Given the description of an element on the screen output the (x, y) to click on. 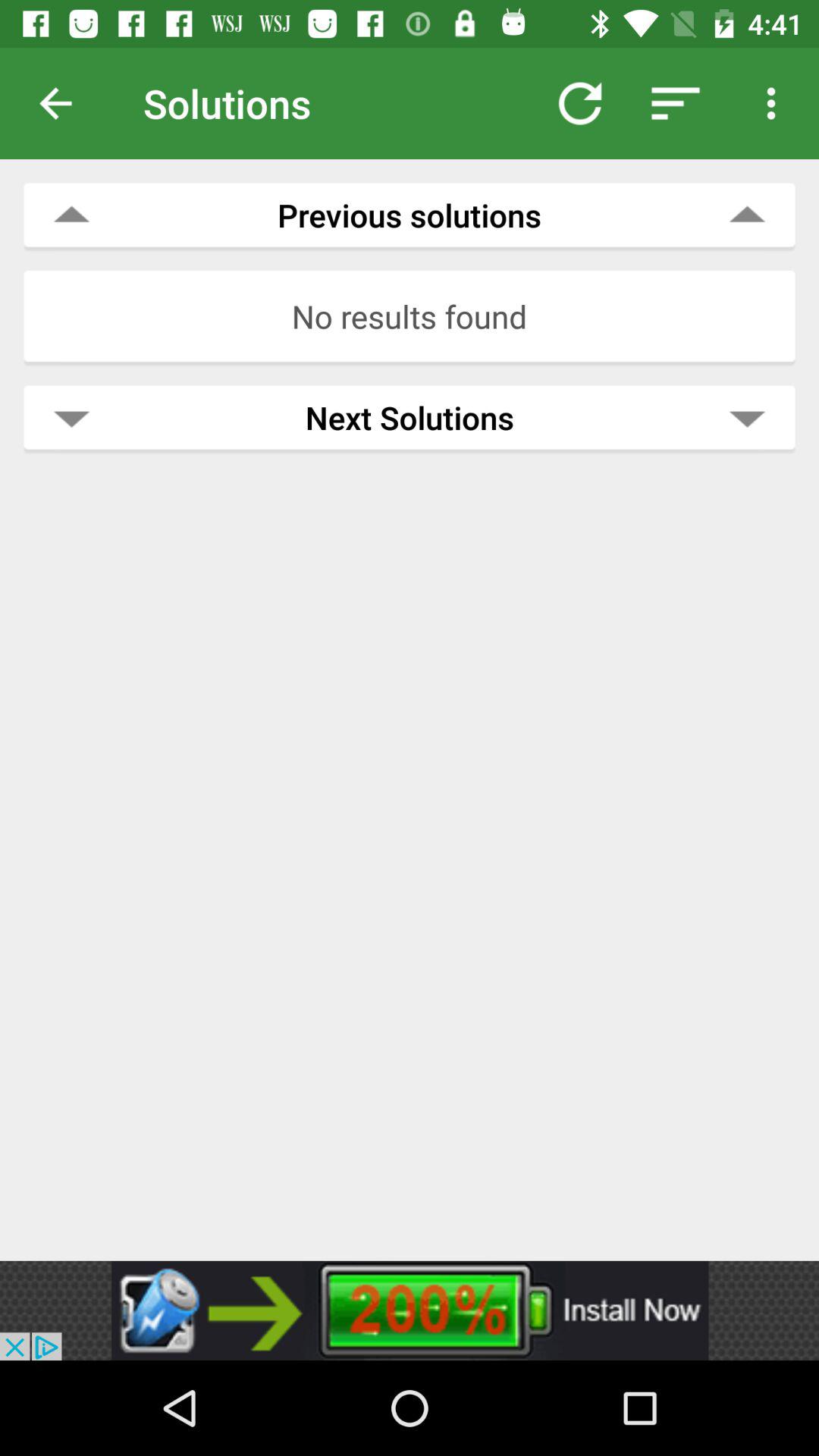
go to advertisement (409, 1310)
